Given the description of an element on the screen output the (x, y) to click on. 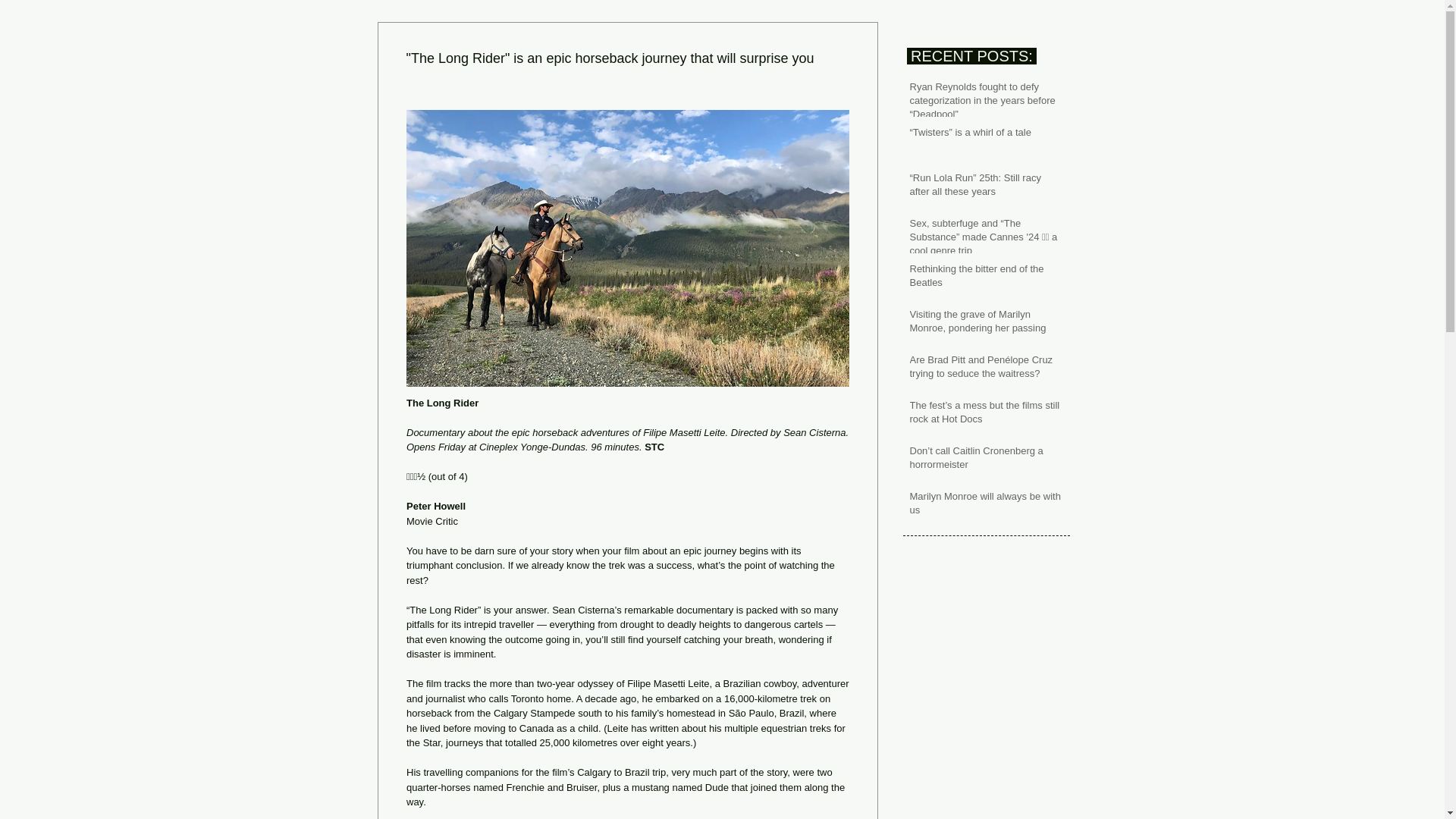
Visiting the grave of Marilyn Monroe, pondering her passing (987, 324)
Marilyn Monroe will always be with us (987, 506)
Rethinking the bitter end of the Beatles (987, 278)
